Given the description of an element on the screen output the (x, y) to click on. 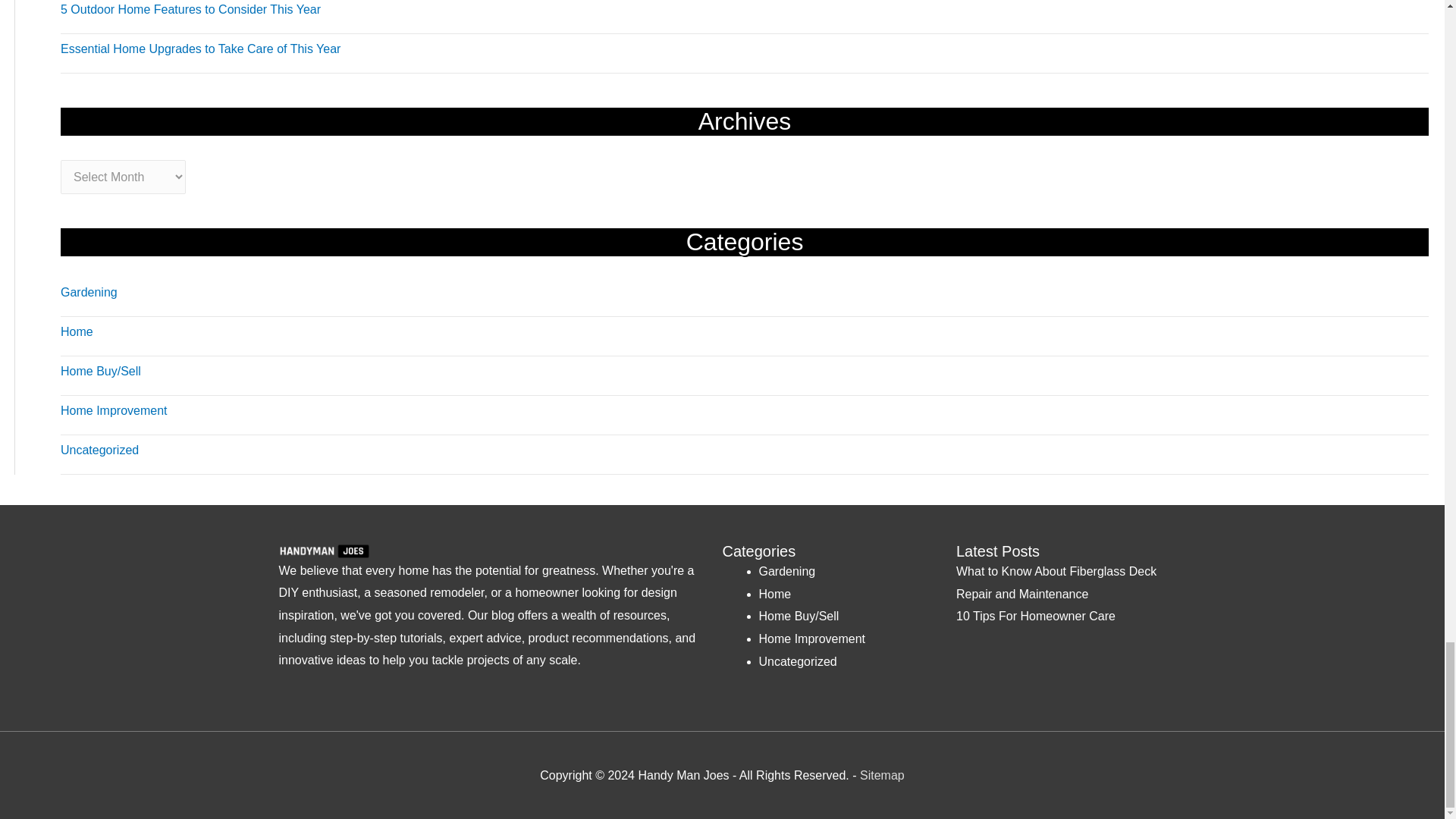
Essential Home Upgrades to Take Care of This Year (200, 48)
Home (77, 331)
Gardening (89, 291)
5 Outdoor Home Features to Consider This Year (190, 9)
Home Improvement (114, 410)
Uncategorized (99, 449)
